Given the description of an element on the screen output the (x, y) to click on. 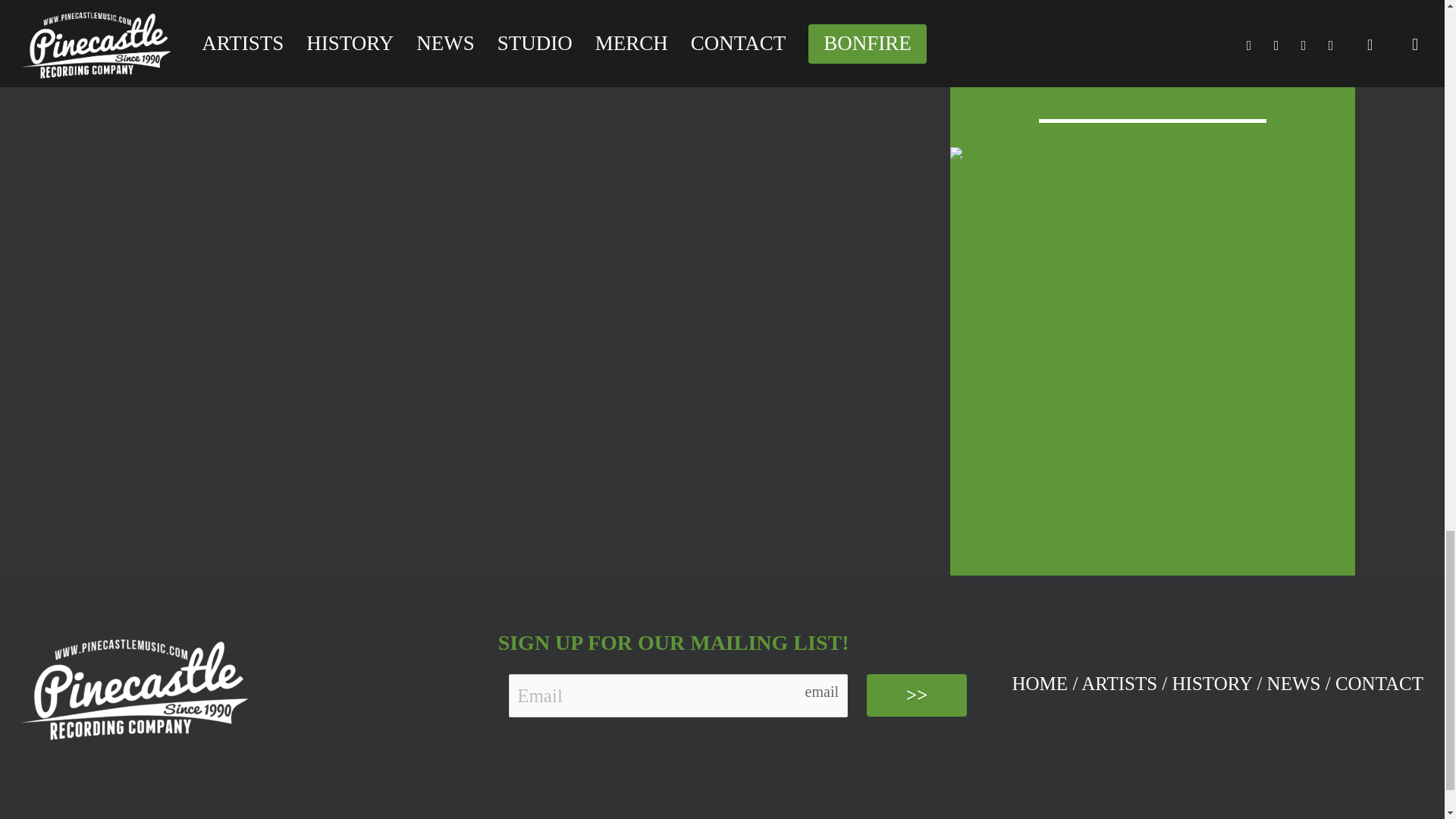
HOME (1039, 683)
NEWS (1293, 683)
CONTACT (1379, 683)
HISTORY (1212, 683)
ARTISTS (1119, 683)
